Given the description of an element on the screen output the (x, y) to click on. 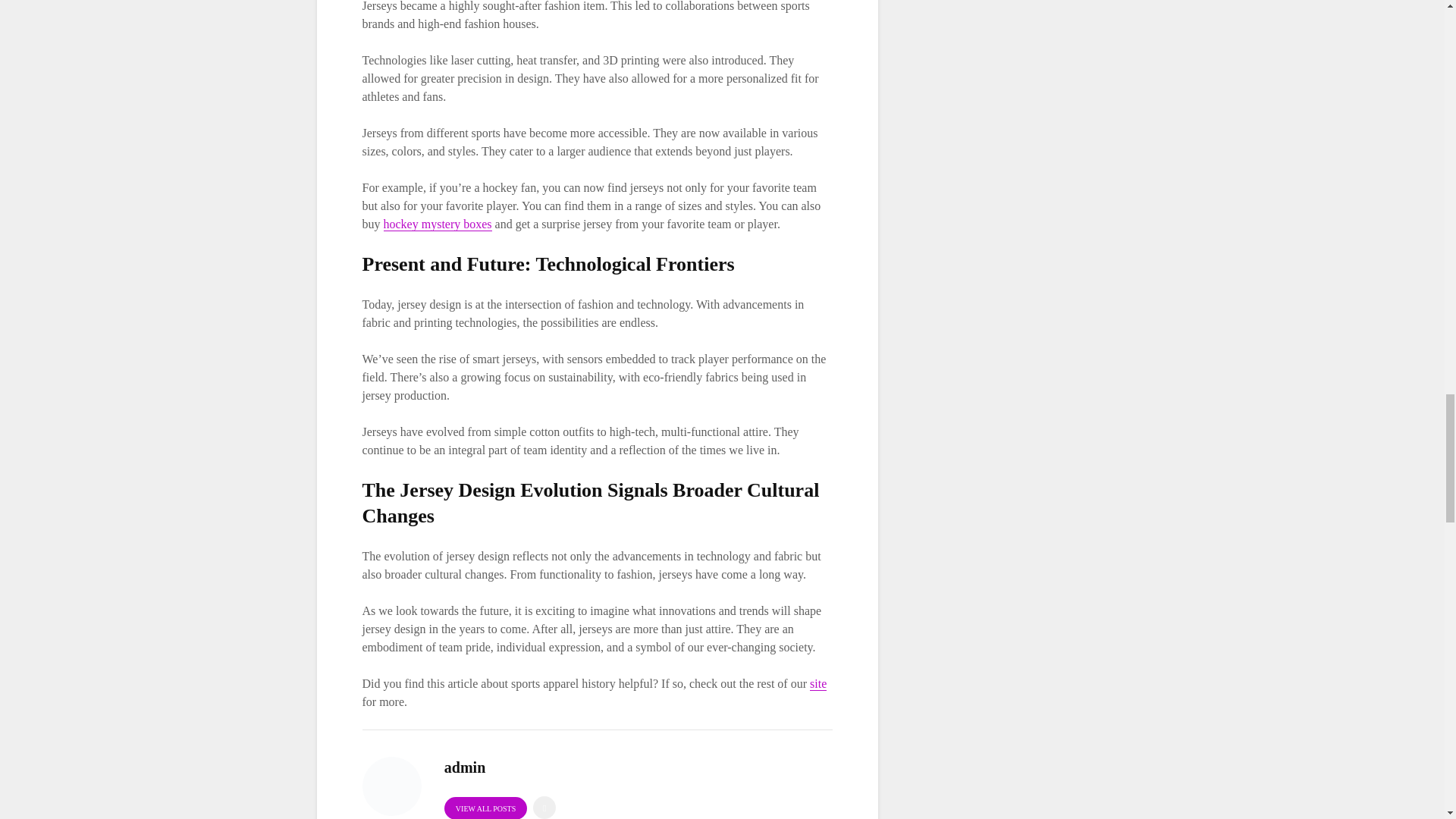
hockey mystery boxes (438, 223)
VIEW ALL POSTS (485, 807)
site (818, 684)
